Given the description of an element on the screen output the (x, y) to click on. 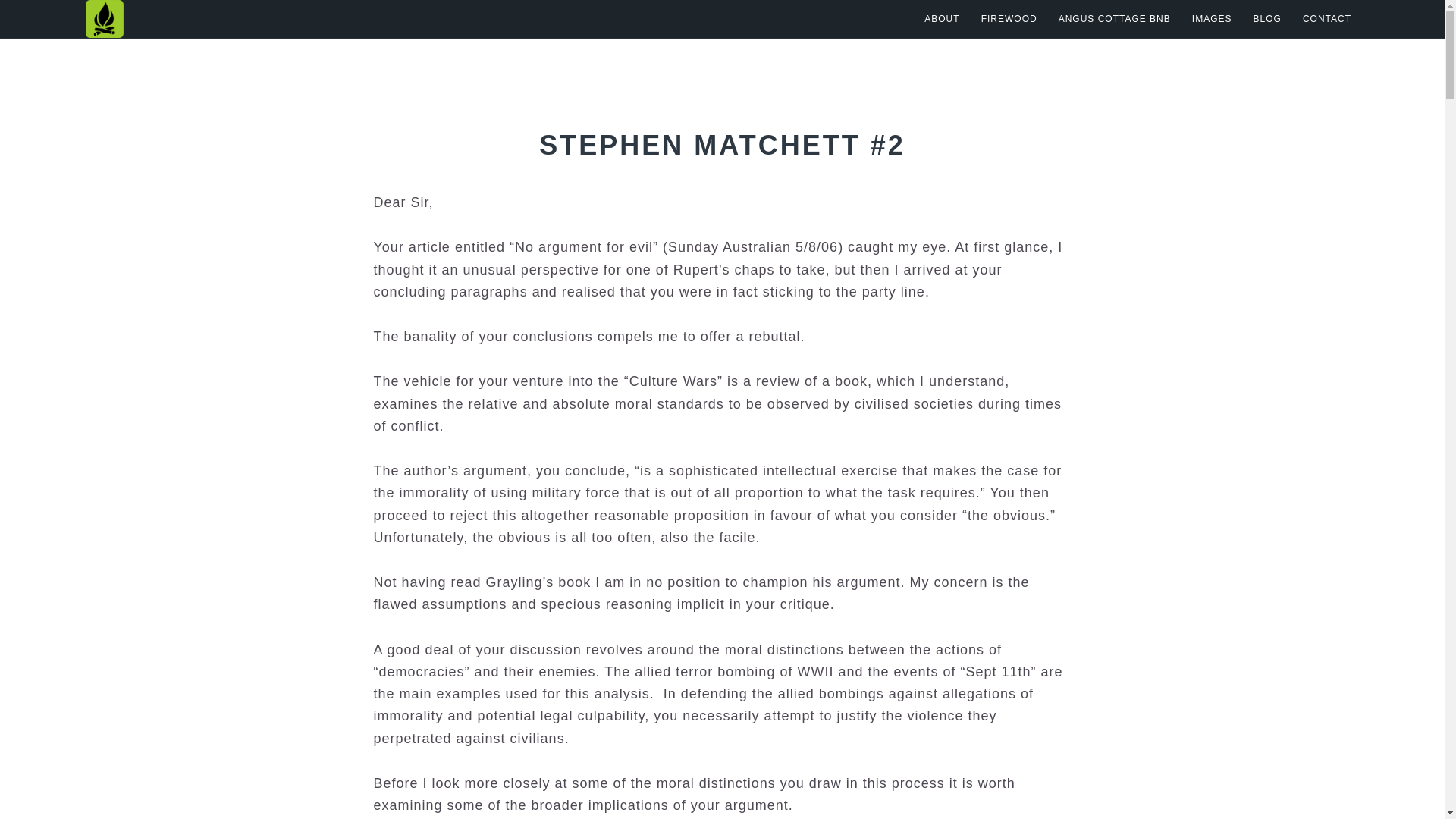
IMAGES (1212, 18)
BLOG (1267, 18)
CONTACT (1326, 18)
FERRET FARM FORESTRY (236, 18)
FIREWOOD (1009, 18)
ABOUT (941, 18)
ANGUS COTTAGE BNB (1114, 18)
